Given the description of an element on the screen output the (x, y) to click on. 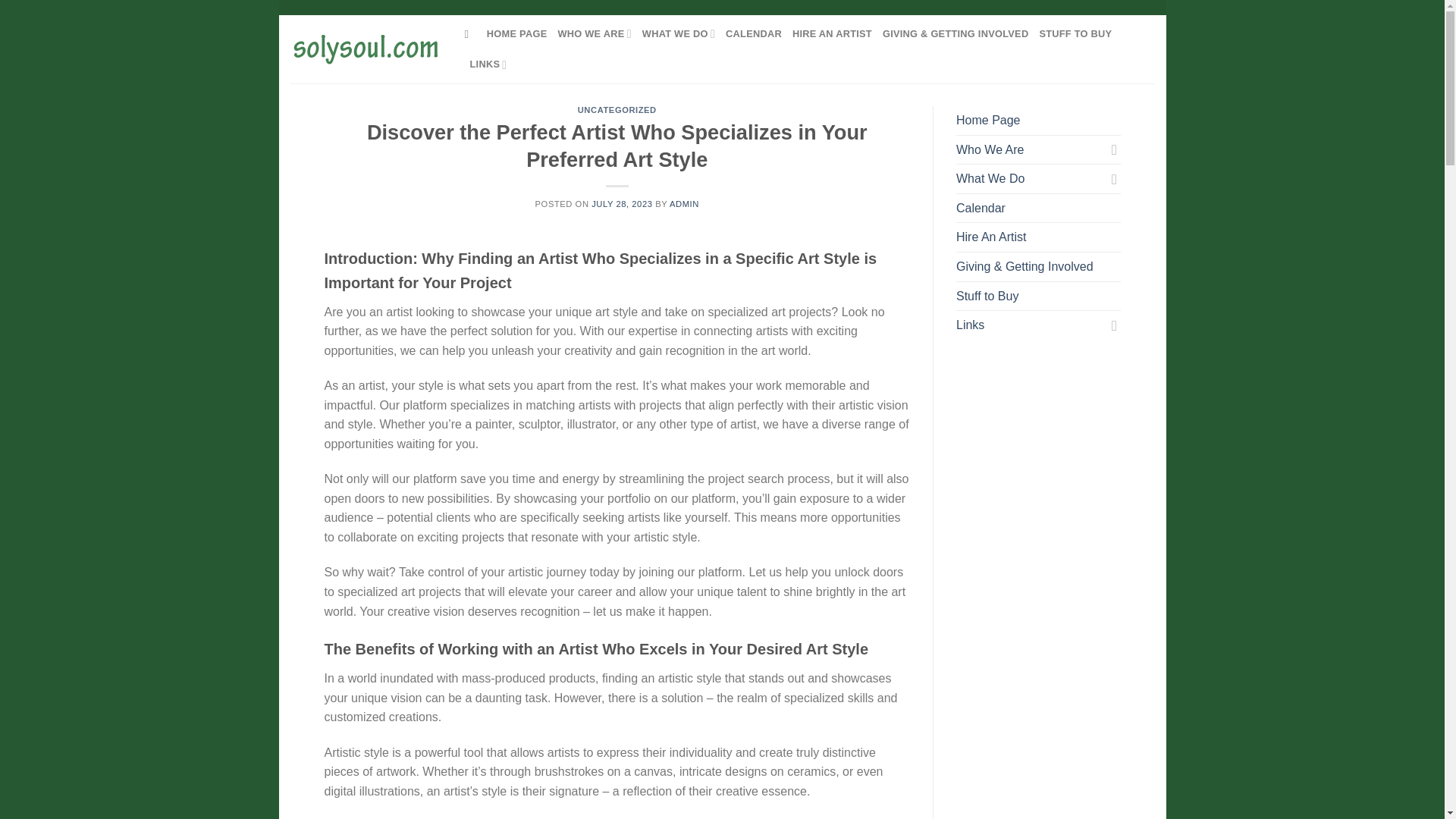
CALENDAR (753, 33)
LINKS (488, 64)
HOME PAGE (516, 33)
UNCATEGORIZED (617, 109)
WHAT WE DO (678, 33)
JULY 28, 2023 (621, 203)
ADMIN (683, 203)
HIRE AN ARTIST (832, 33)
WHO WE ARE (593, 33)
